Given the description of an element on the screen output the (x, y) to click on. 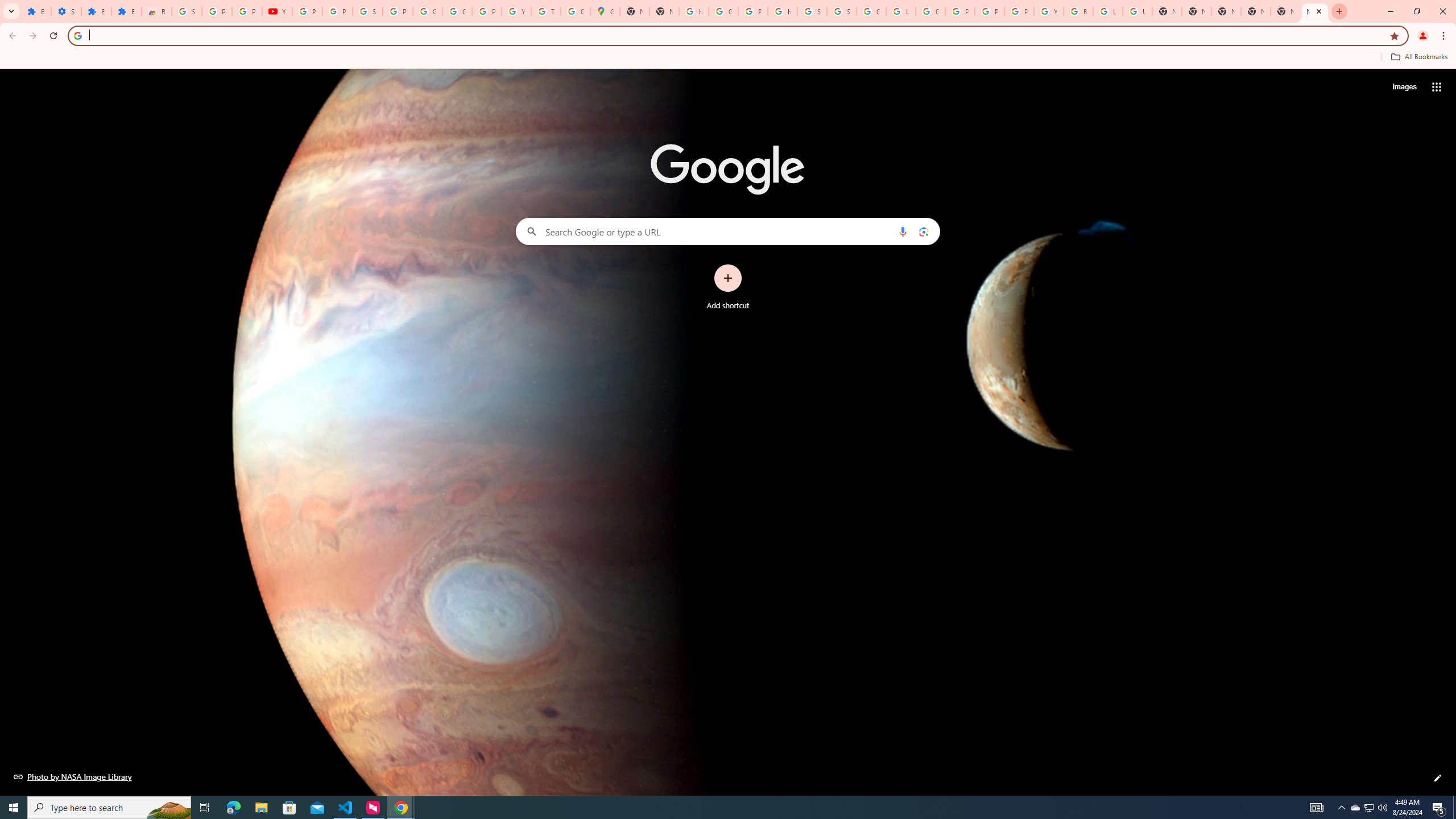
https://scholar.google.com/ (782, 11)
Privacy Help Center - Policies Help (959, 11)
Reviews: Helix Fruit Jump Arcade Game (156, 11)
Sign in - Google Accounts (841, 11)
YouTube (515, 11)
